Given the description of an element on the screen output the (x, y) to click on. 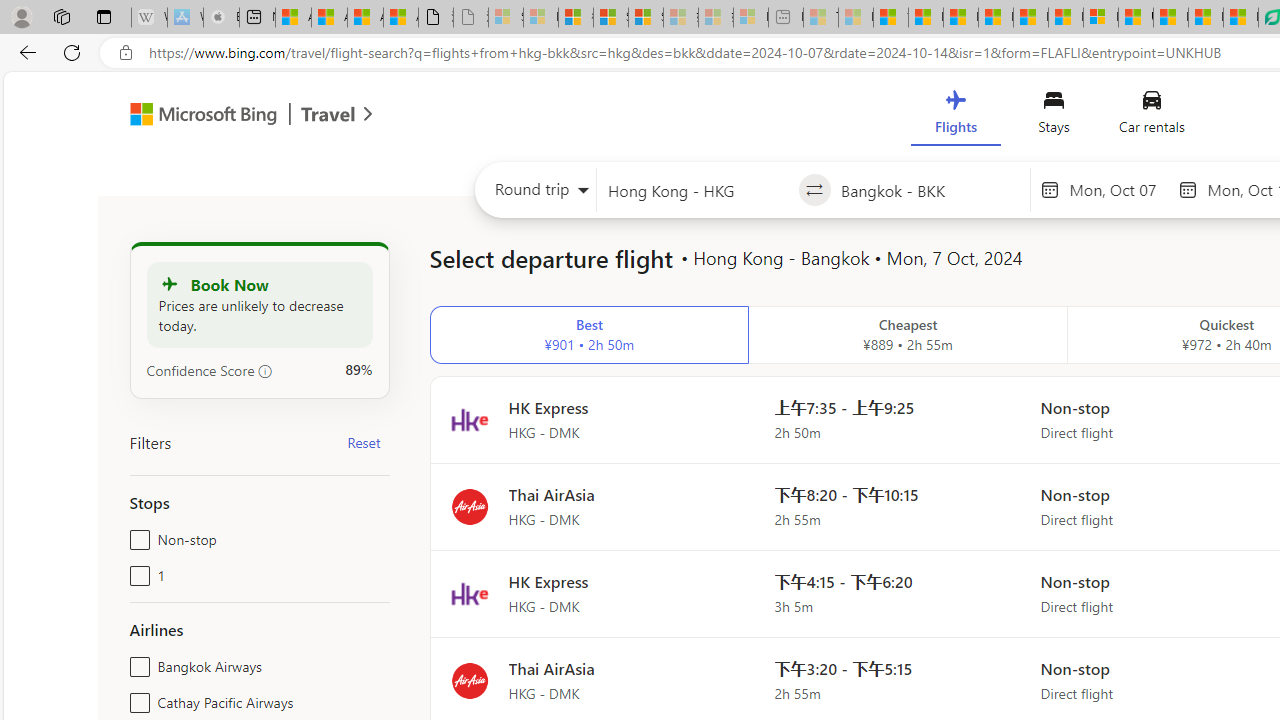
1 (136, 571)
Microsoft Bing (194, 116)
Car rentals (1150, 116)
Leaving from? (697, 190)
Info tooltip (265, 371)
US Heat Deaths Soared To Record High Last Year (1135, 17)
Aberdeen, Hong Kong SAR severe weather | Microsoft Weather (401, 17)
Microsoft account | Account Checkup - Sleeping (750, 17)
Top Stories - MSN - Sleeping (820, 17)
Start Date (1118, 189)
